Given the description of an element on the screen output the (x, y) to click on. 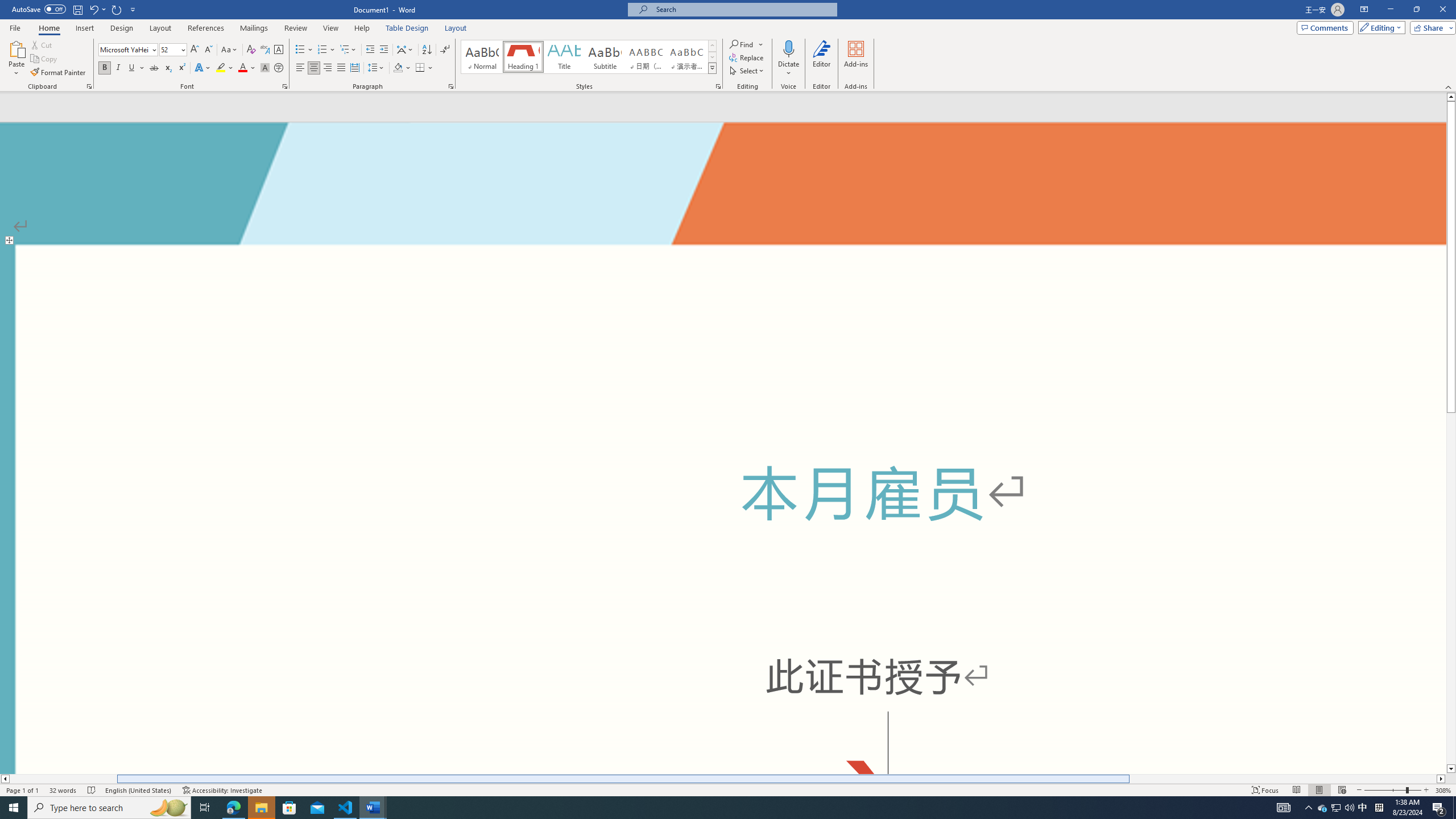
Shading RGB(0, 0, 0) (397, 67)
Superscript (180, 67)
Copy (45, 58)
Text Highlight Color (224, 67)
AutomationID: QuickStylesGallery (588, 56)
